Given the description of an element on the screen output the (x, y) to click on. 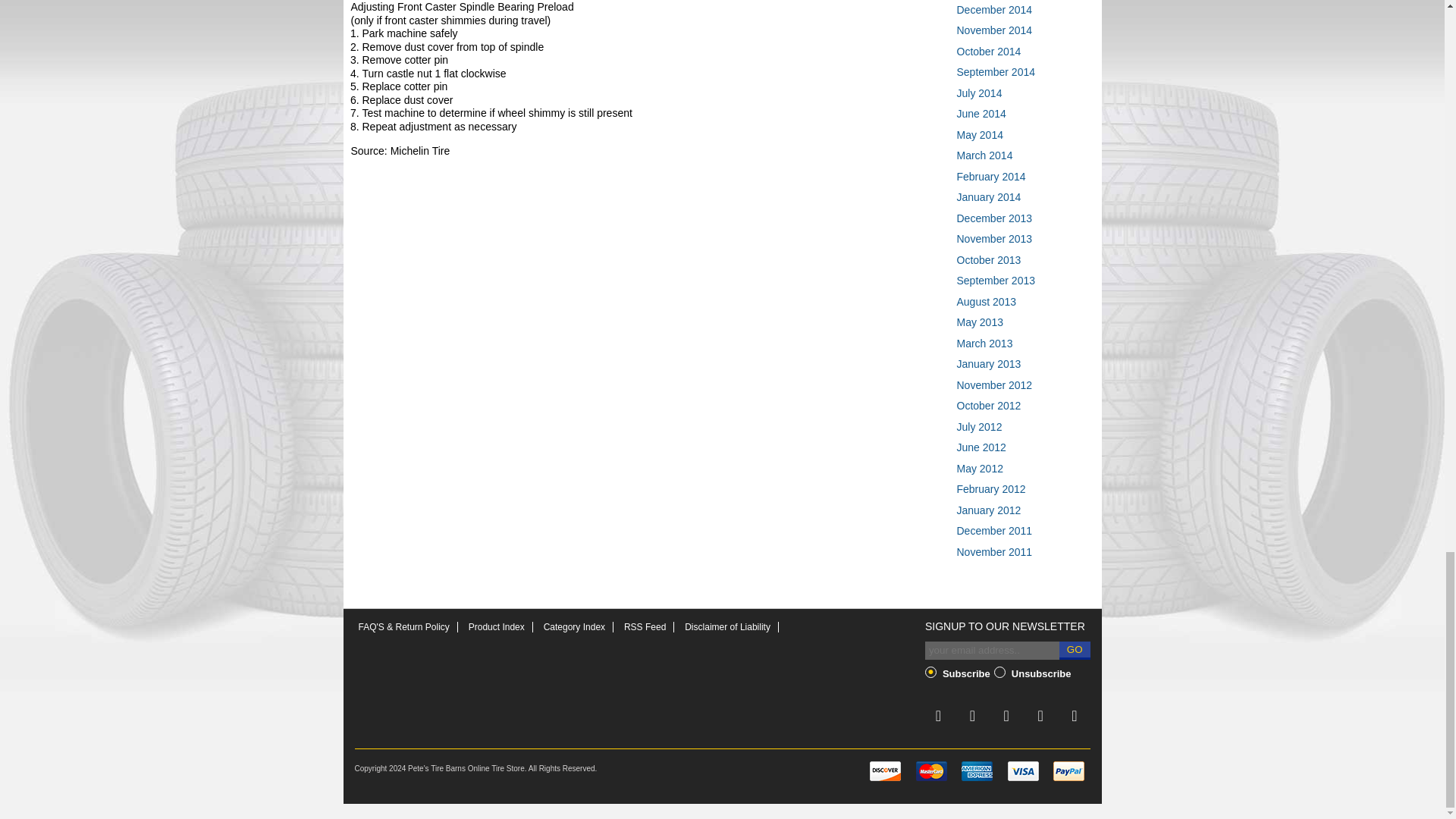
Like Us on Facebook (972, 715)
Follow Us on Twitter (938, 715)
Follow Us on Instagram (1040, 715)
Subscribe to our Channel (1006, 715)
Subscribe to our Blog (1074, 715)
